Given the description of an element on the screen output the (x, y) to click on. 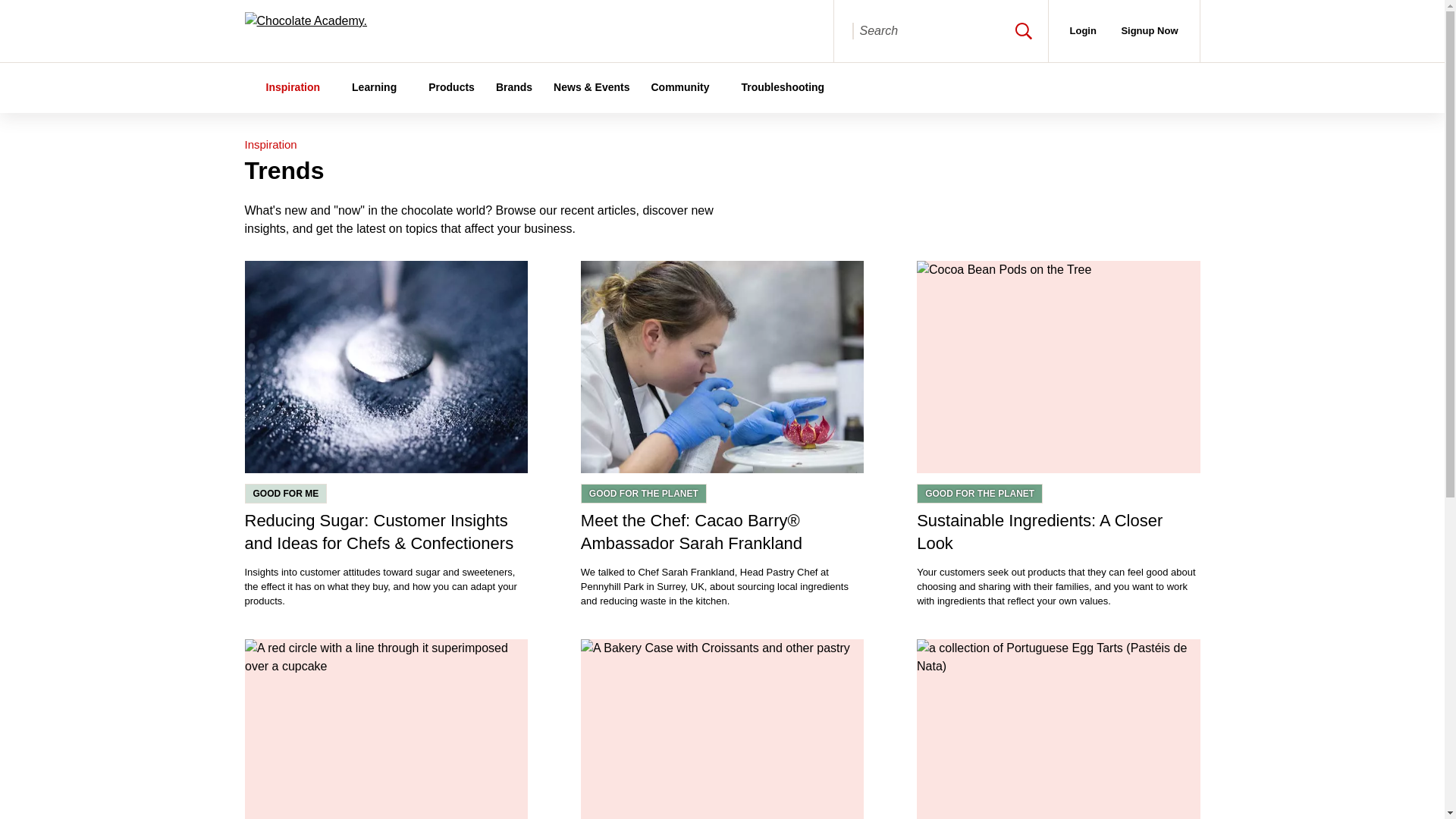
Troubleshooting (782, 87)
Skip to main content (16, 9)
Inspiration (270, 144)
Signup Now (1148, 30)
Search (1024, 30)
Sustainable Ingredients: A Closer Look (1058, 532)
Brands (513, 87)
Products (451, 87)
Login (1082, 30)
